Given the description of an element on the screen output the (x, y) to click on. 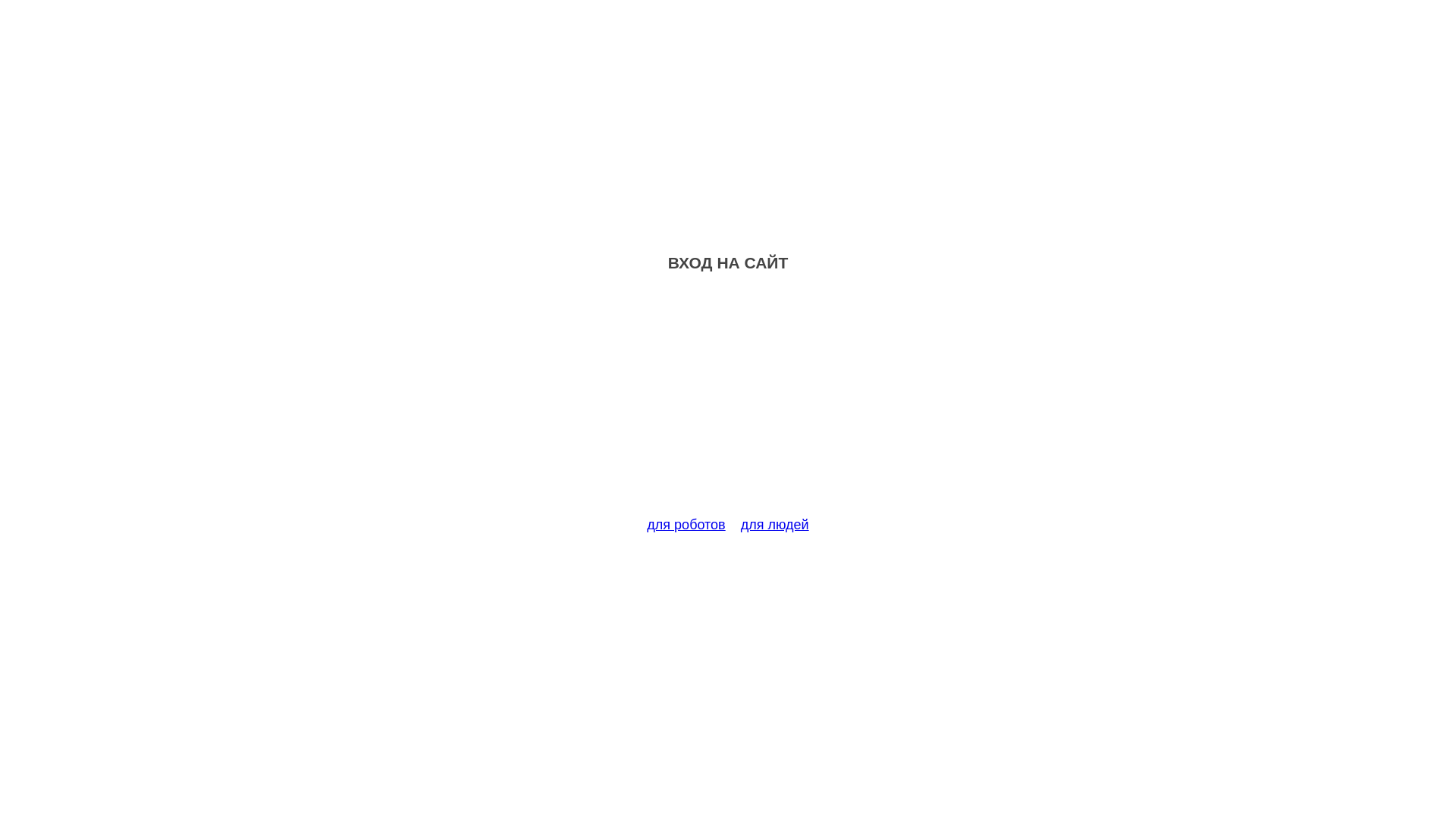
Advertisement Element type: hover (727, 403)
